Given the description of an element on the screen output the (x, y) to click on. 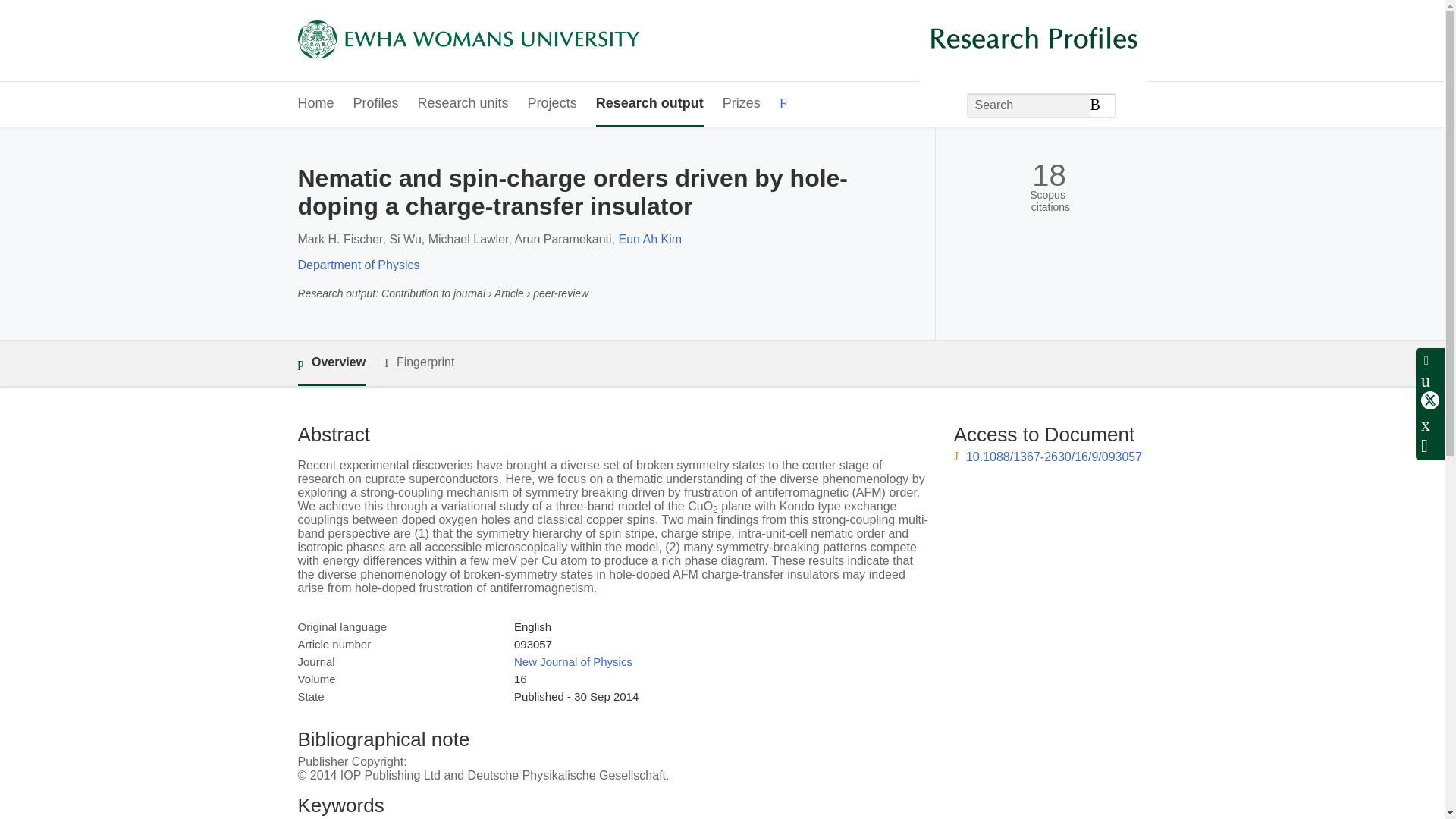
Department of Physics (358, 264)
New Journal of Physics (572, 661)
Fingerprint (419, 362)
Eun Ah Kim (649, 238)
Profiles (375, 103)
Research units (462, 103)
Overview (331, 363)
Research output (649, 103)
Projects (551, 103)
